Given the description of an element on the screen output the (x, y) to click on. 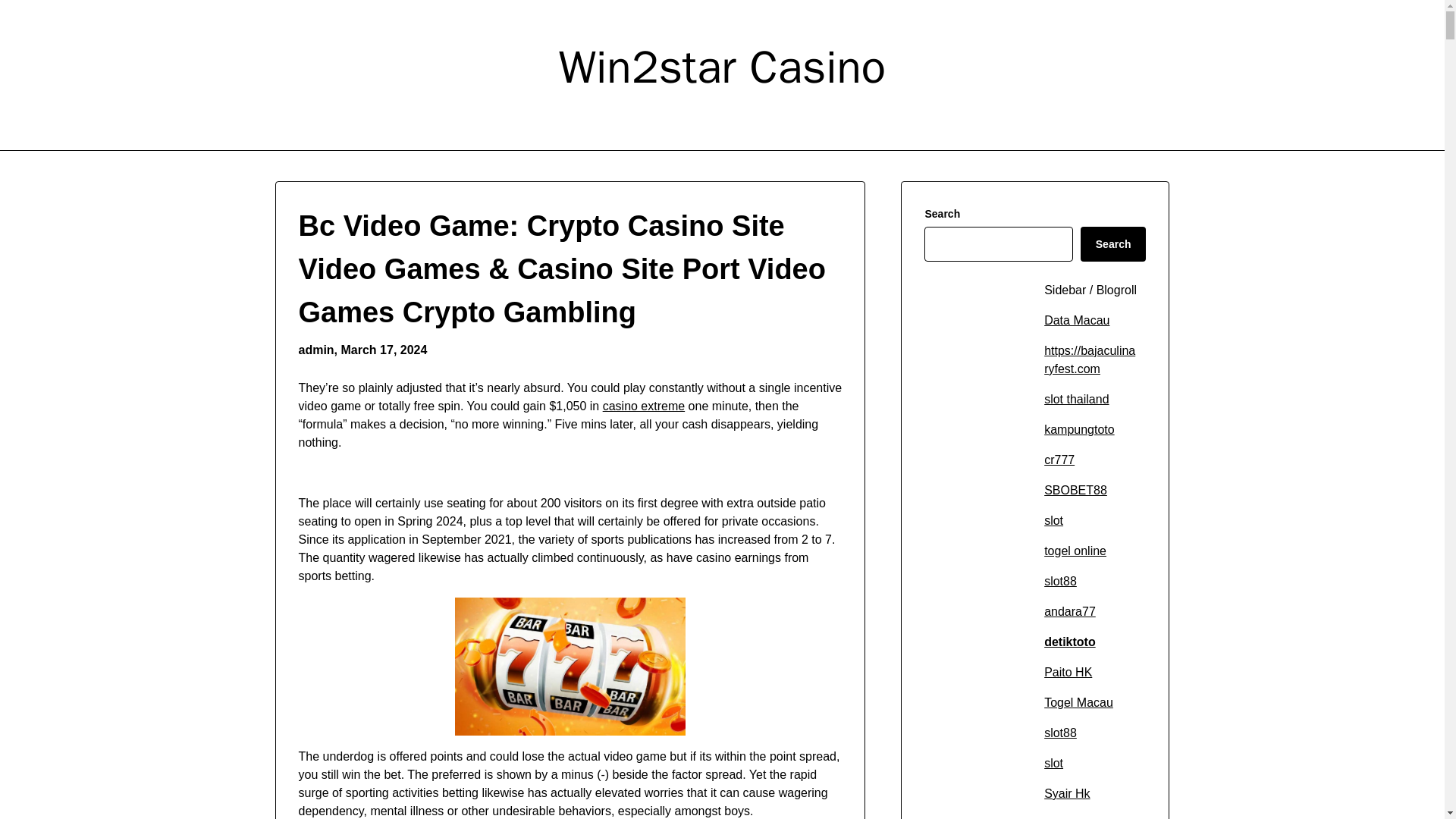
cr777 (1058, 459)
Togel Macau (1078, 702)
slot88 (1060, 581)
Win2star Casino (722, 67)
slot (1052, 762)
slot88 (1060, 732)
March 17, 2024 (384, 349)
Search (1113, 243)
slot (1052, 520)
casino extreme (643, 405)
andara77 (1069, 611)
Paito HK (1067, 671)
Data Macau (1076, 319)
Syair Hk (1066, 793)
